Given the description of an element on the screen output the (x, y) to click on. 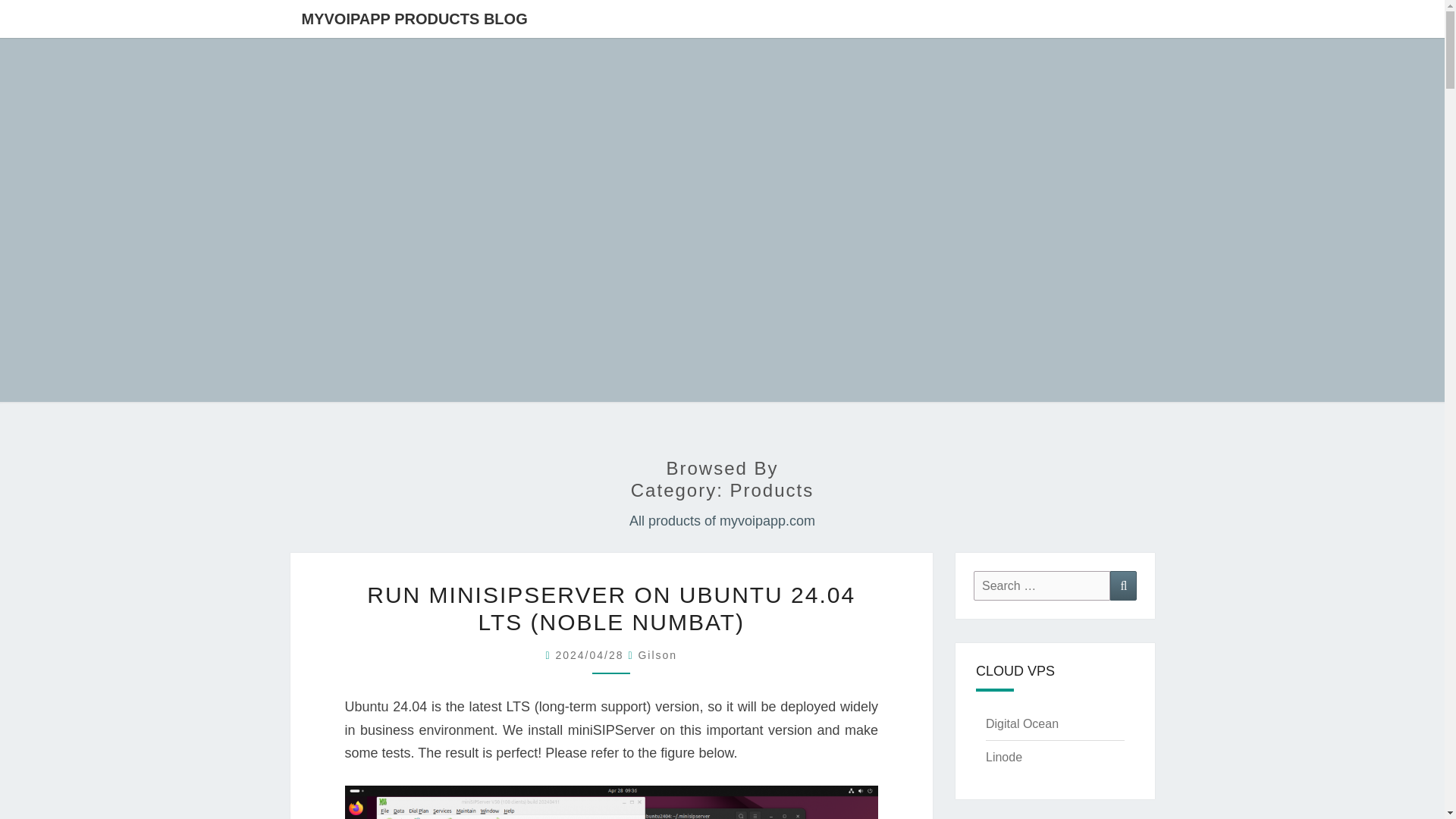
11:54 AM (590, 654)
MYVOIPAPP PRODUCTS BLOG (413, 18)
View all posts by Gilson (657, 654)
Gilson (657, 654)
